Given the description of an element on the screen output the (x, y) to click on. 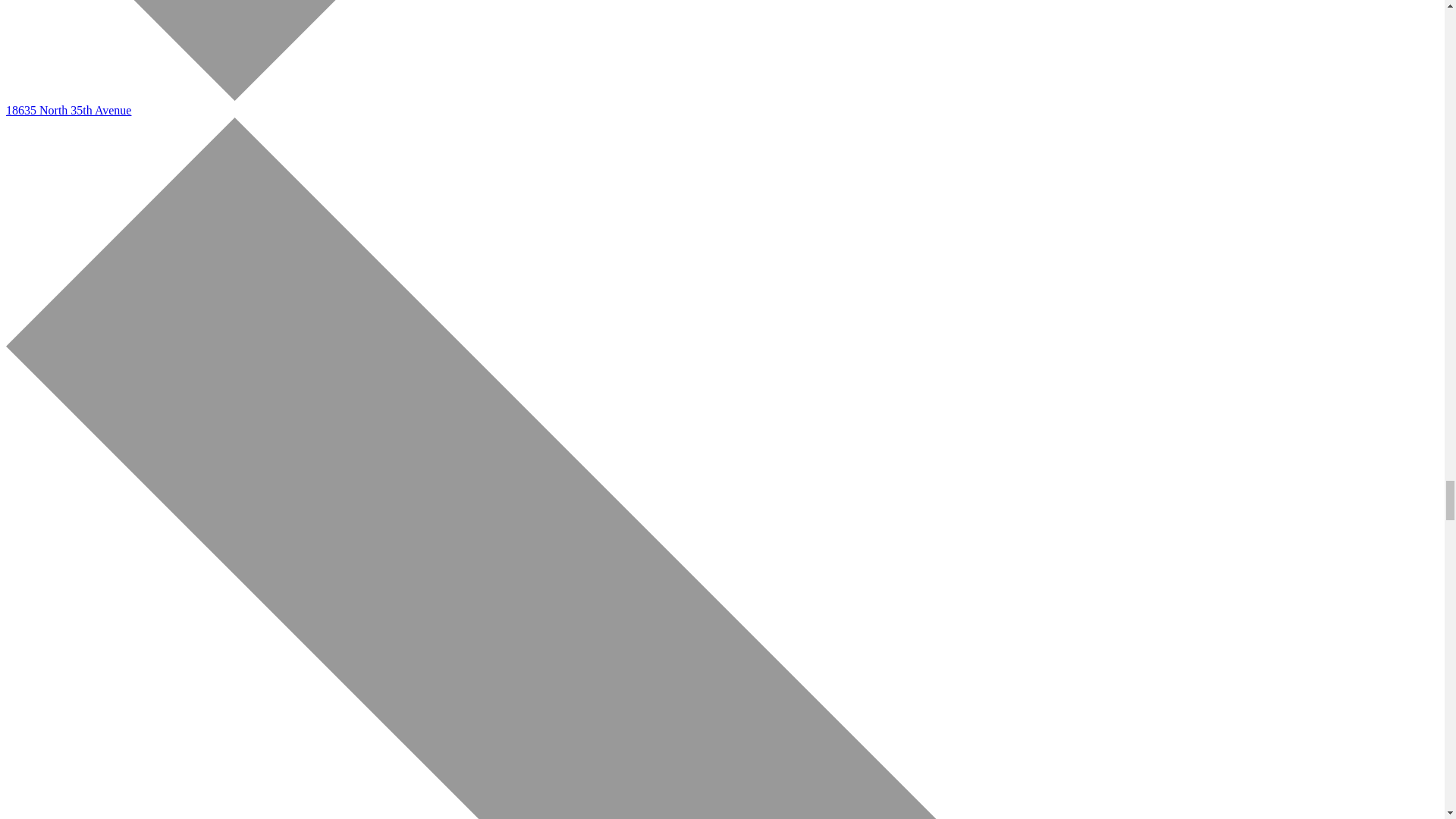
18635 North 35th Avenue (68, 110)
18635 North 35th Avenue (68, 110)
